Given the description of an element on the screen output the (x, y) to click on. 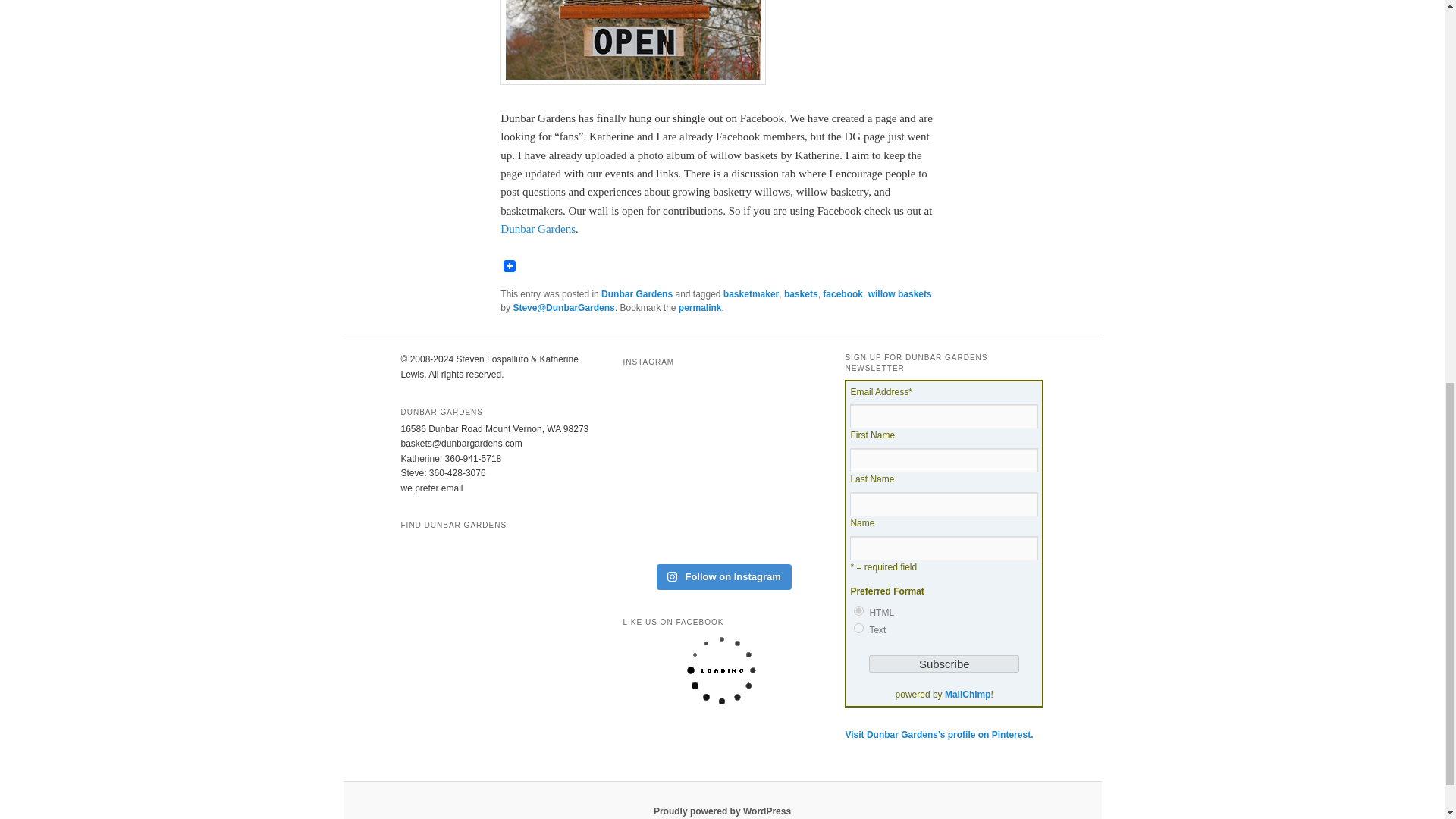
text (858, 628)
Dunbar Gardens (636, 294)
willow baskets (899, 294)
permalink (700, 307)
Permalink to Facebook page (700, 307)
Dunbar Gardens (537, 228)
dgopen (632, 42)
basketmaker (750, 294)
Follow on Instagram (724, 576)
Subscribe (944, 663)
